Given the description of an element on the screen output the (x, y) to click on. 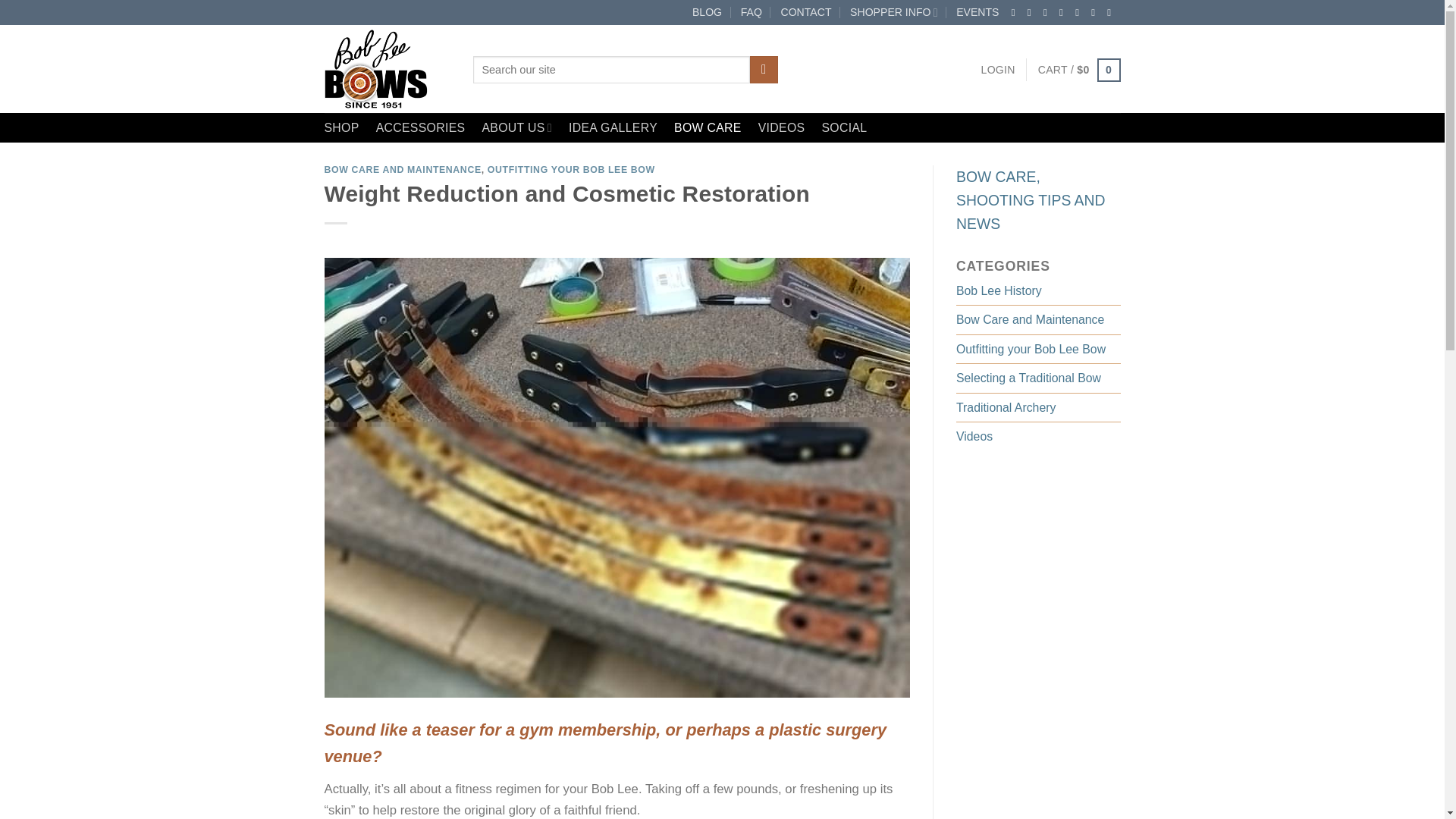
SHOP (341, 127)
ACCESSORIES (420, 127)
BOW CARE (707, 127)
CONTACT (805, 12)
VIDEOS (781, 127)
ABOUT US (516, 127)
EVENTS (977, 12)
SHOPPER INFO (893, 12)
BLOG (707, 12)
IDEA GALLERY (613, 127)
